Given the description of an element on the screen output the (x, y) to click on. 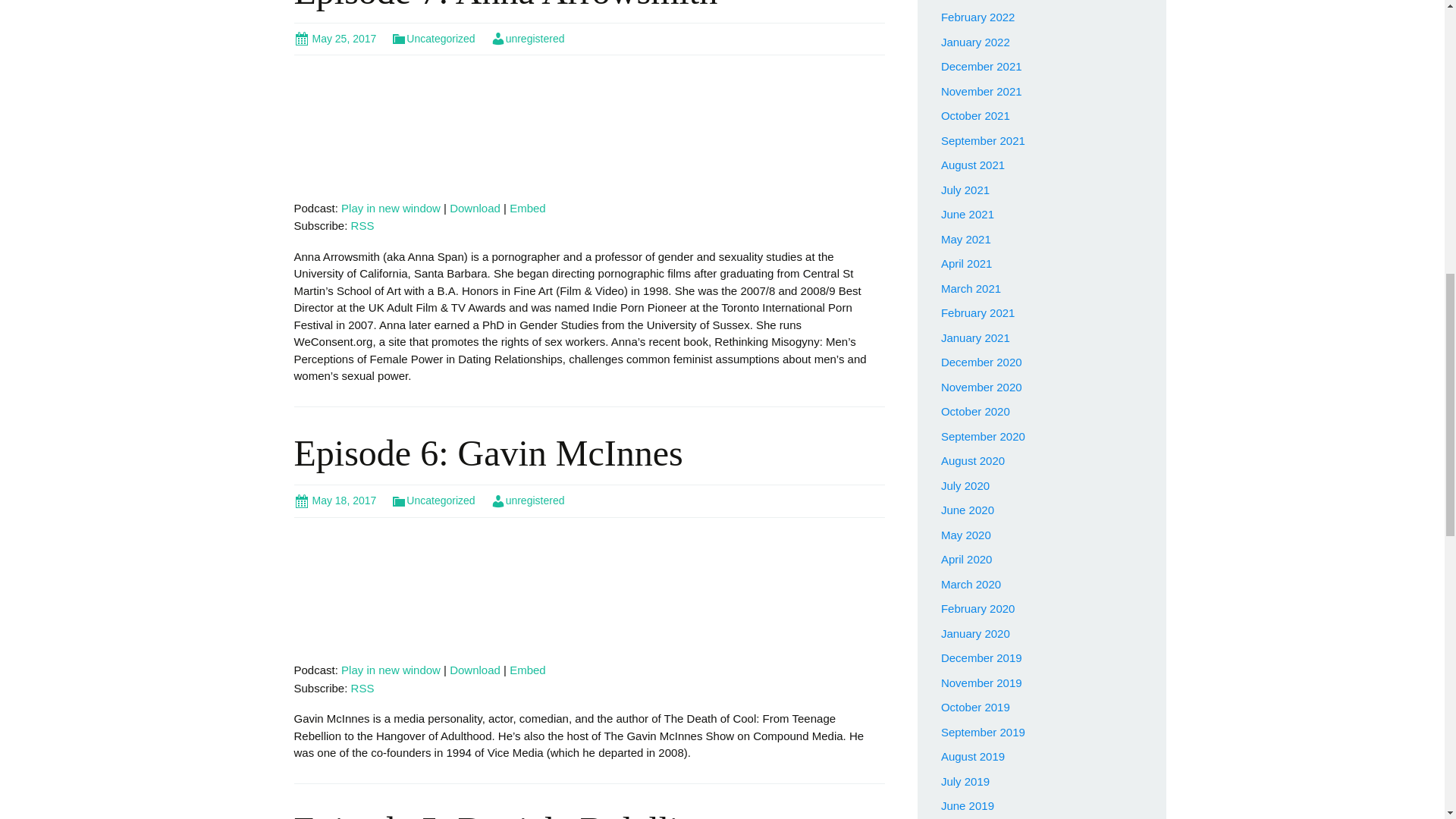
Play in new window (390, 669)
Play in new window (390, 207)
Embed (527, 207)
Permalink to Episode 7: Anna Arrowsmith (335, 38)
Embed (527, 207)
May 18, 2017 (335, 500)
RSS (362, 687)
Download (474, 669)
May 25, 2017 (335, 38)
unregistered (527, 38)
